Given the description of an element on the screen output the (x, y) to click on. 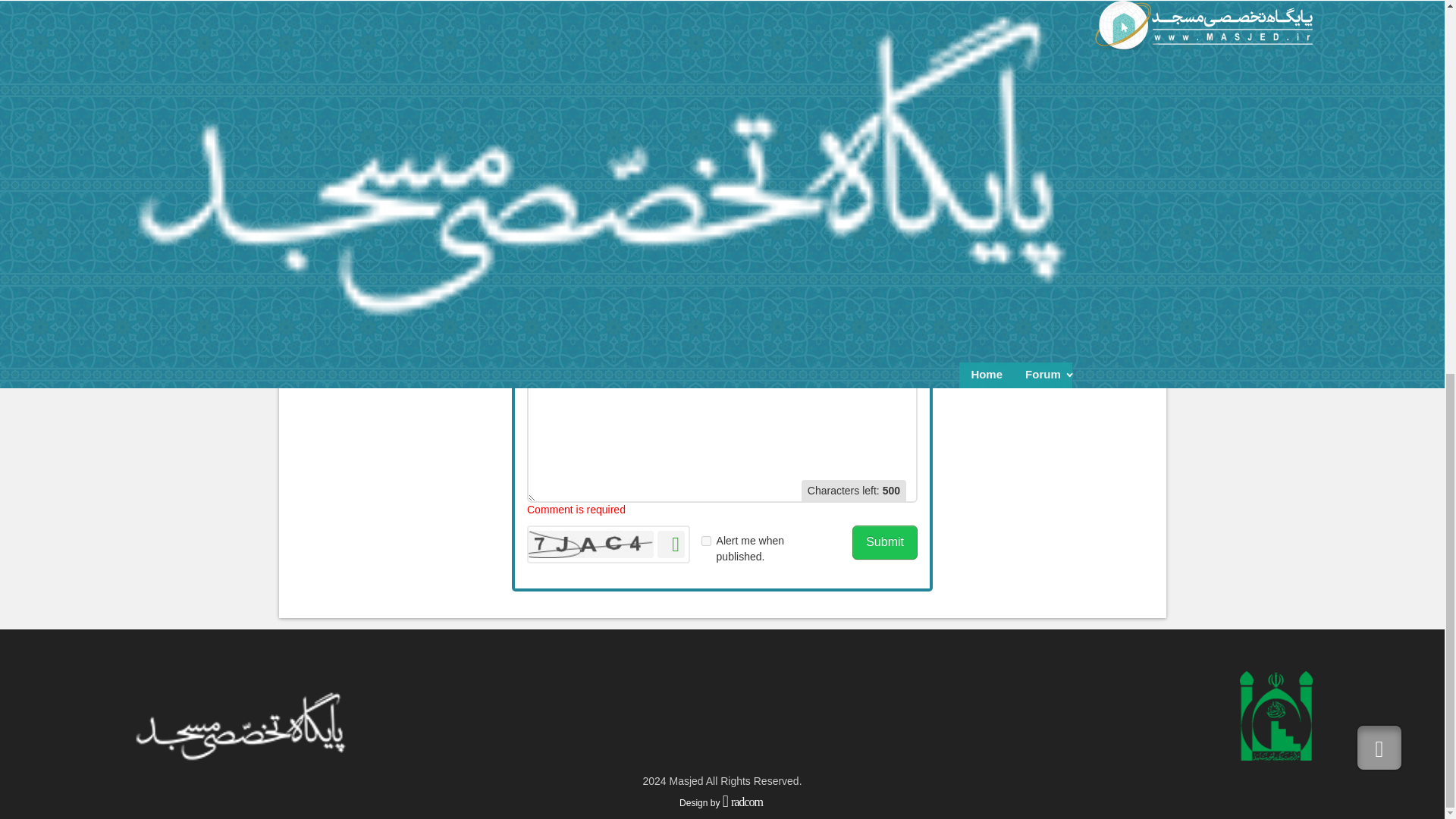
3 (669, 273)
1 (638, 273)
3 (669, 273)
4 (684, 273)
2 (862, 246)
5 (699, 273)
radcom (743, 802)
1 (847, 246)
3 (877, 246)
0 (862, 246)
0 (892, 246)
Submit (884, 542)
0 (847, 246)
5 (908, 246)
0 (908, 246)
